Given the description of an element on the screen output the (x, y) to click on. 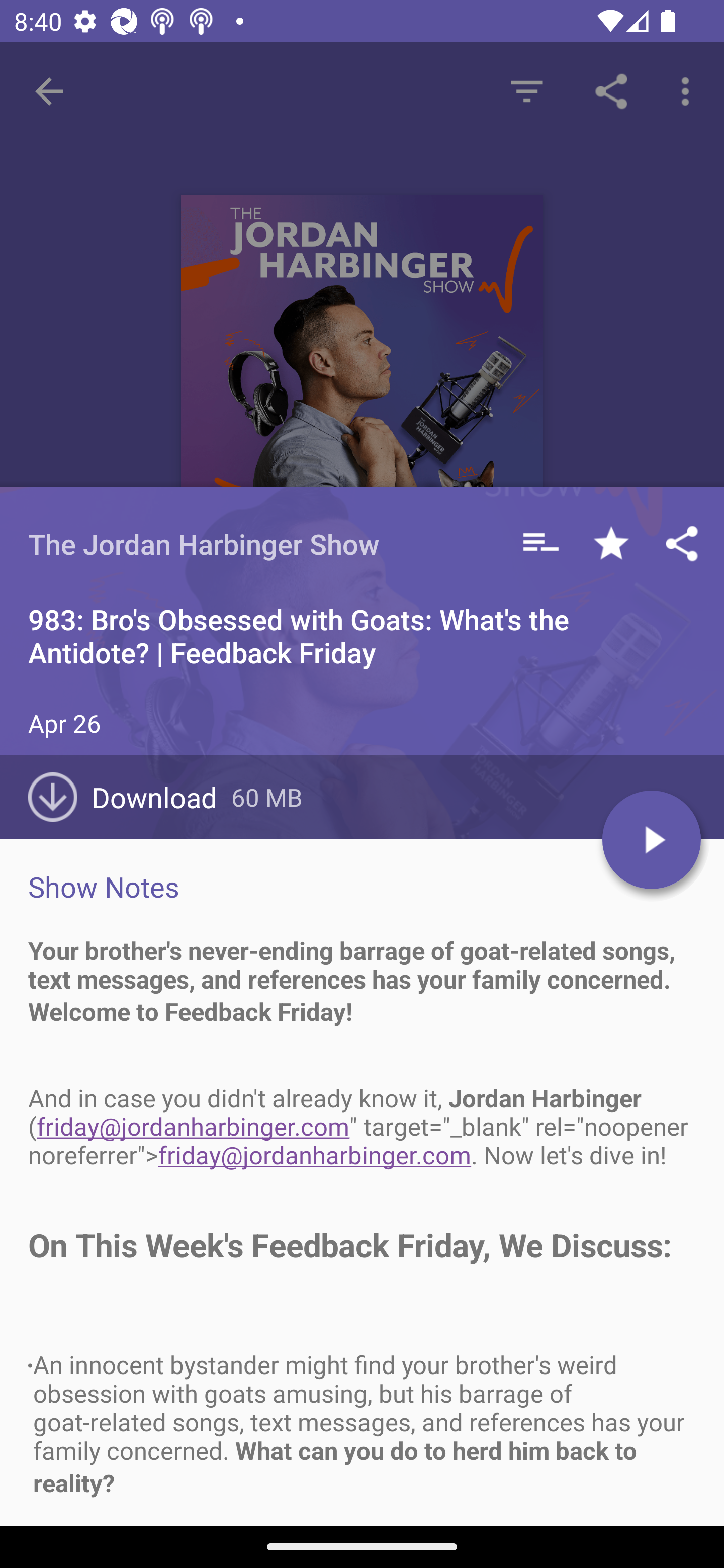
Navigate up (49, 91)
Hide Episodes (526, 90)
Share Link (611, 90)
More options (688, 90)
Download (129, 797)
